Given the description of an element on the screen output the (x, y) to click on. 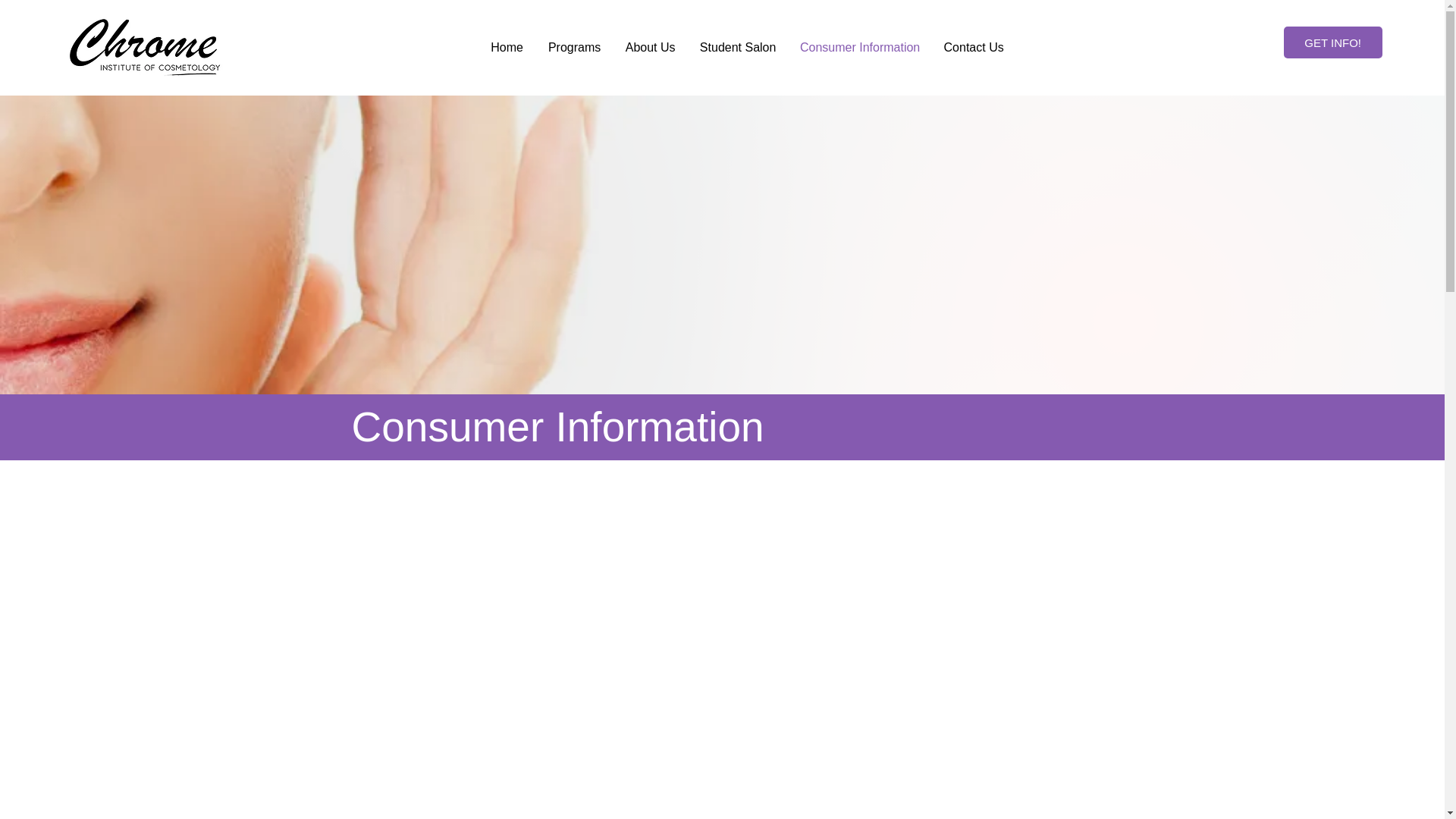
About Us (649, 47)
Consumer Information (860, 47)
GET INFO! (1332, 42)
Home (507, 47)
Student Salon (738, 47)
Contact Us (973, 47)
